Given the description of an element on the screen output the (x, y) to click on. 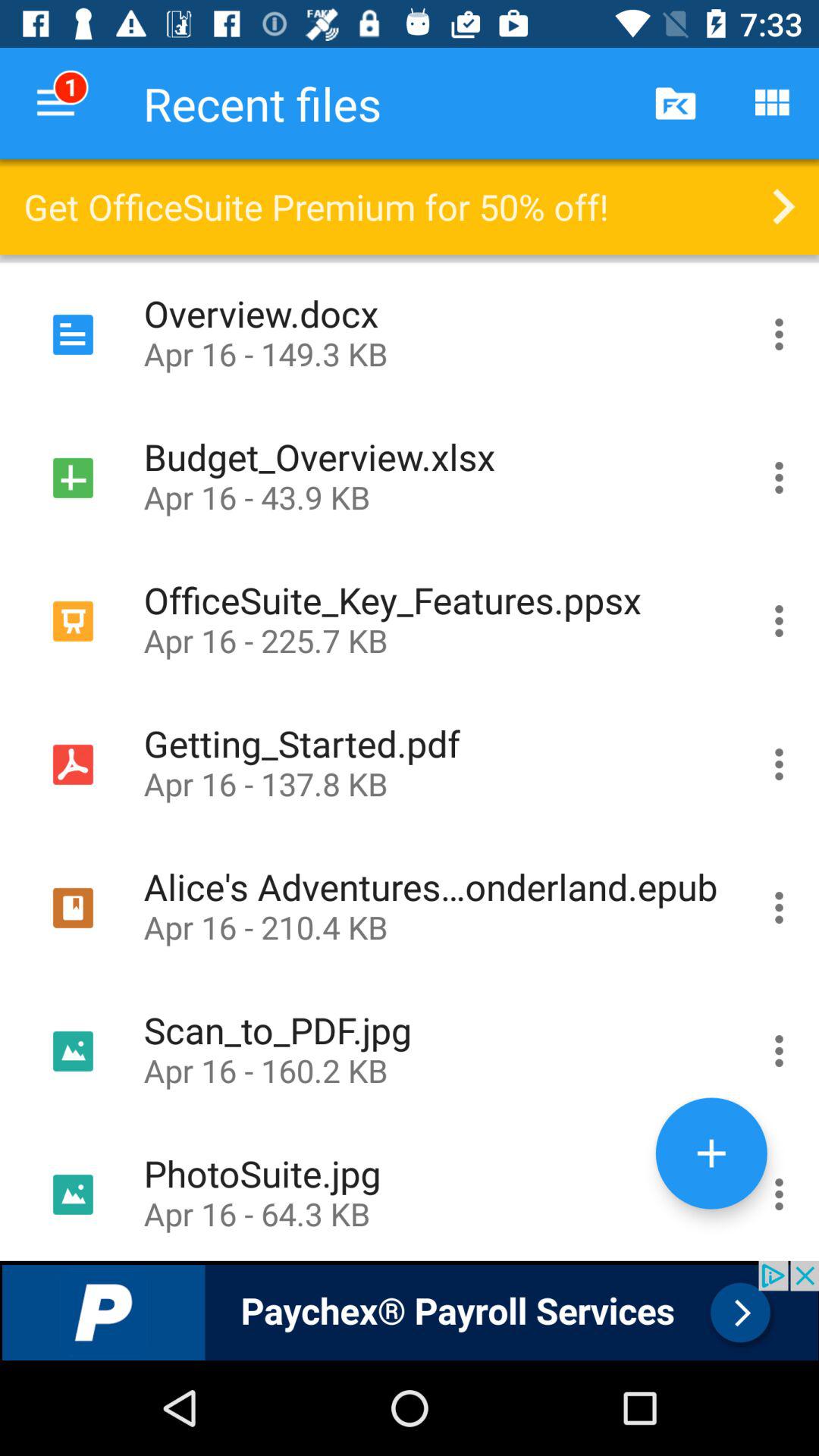
open advertisement (409, 1310)
